Given the description of an element on the screen output the (x, y) to click on. 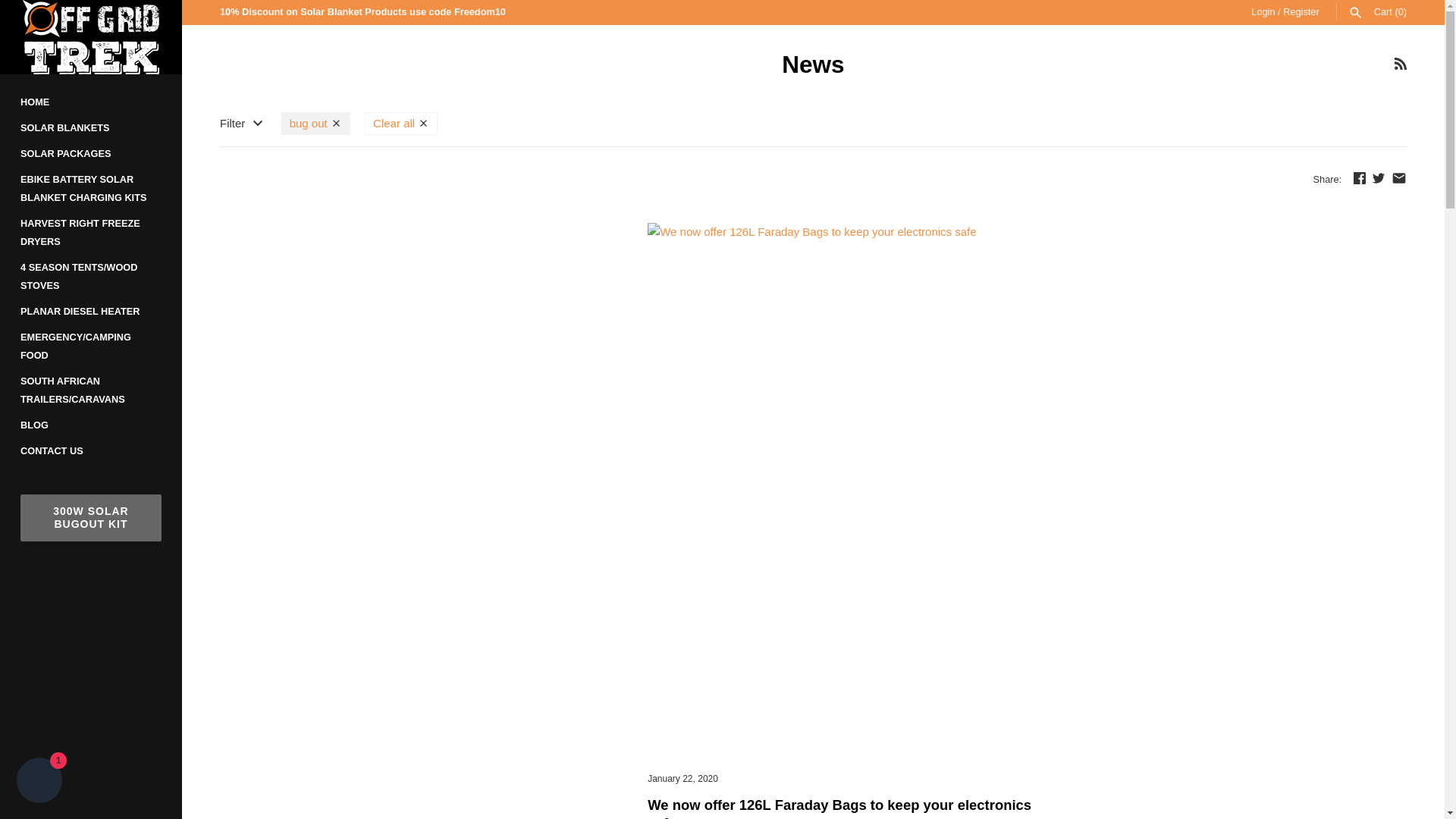
PLANAR DIESEL HEATER (90, 311)
Search (1355, 11)
BLOG (90, 425)
HARVEST RIGHT FREEZE DRYERS (90, 232)
Search (1355, 12)
Off Grid Trek (91, 37)
RSS (1400, 63)
Share on Twitter (1378, 177)
Facebook (1359, 177)
Close (336, 122)
bug out Close (315, 123)
Register (1300, 11)
Email (1398, 177)
HOME (90, 102)
Share using email (1398, 177)
